Given the description of an element on the screen output the (x, y) to click on. 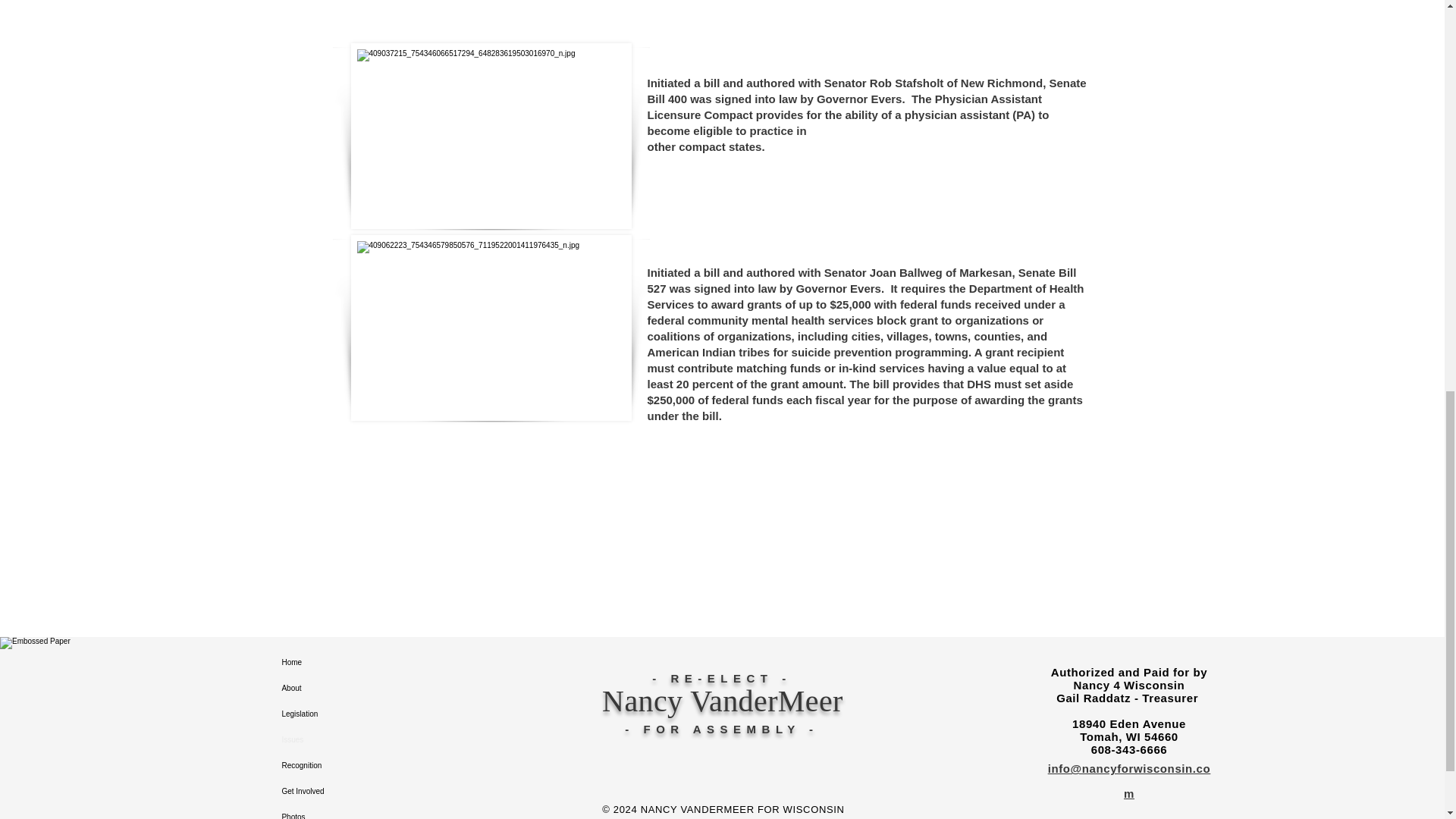
Issues (334, 739)
About (334, 688)
Photos (334, 811)
Home (334, 662)
